Given the description of an element on the screen output the (x, y) to click on. 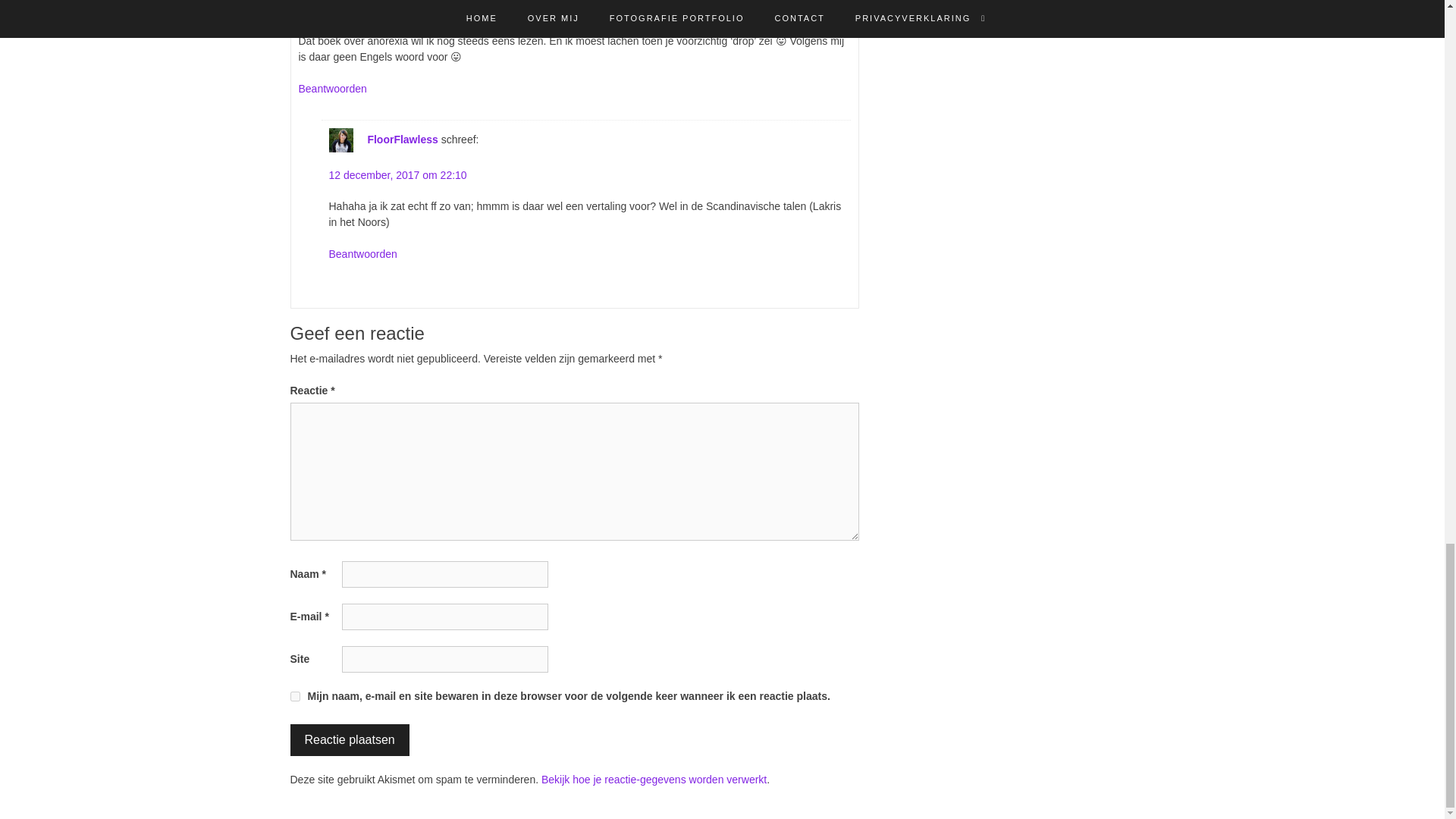
Beantwoorden (332, 88)
yes (294, 696)
Reactie plaatsen (349, 739)
FloorFlawless (402, 139)
Reactie plaatsen (349, 739)
Beantwoorden (363, 254)
Bekijk hoe je reactie-gegevens worden verwerkt (654, 779)
11 december, 2017 om 23:17 (367, 9)
12 december, 2017 om 22:10 (398, 174)
